Given the description of an element on the screen output the (x, y) to click on. 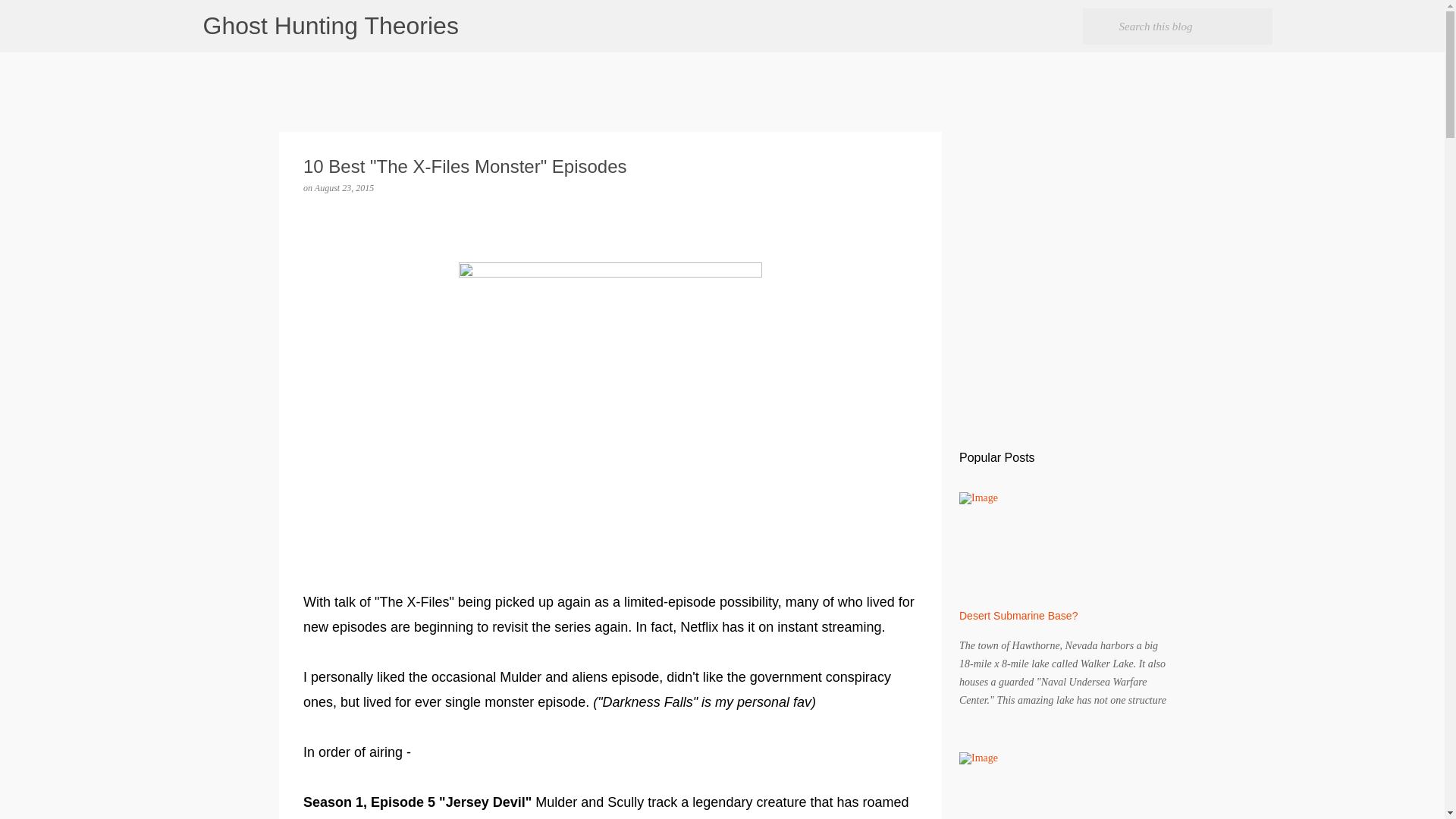
Desert Submarine Base? (1018, 615)
Ghost Hunting Theories (330, 25)
permanent link (344, 187)
August 23, 2015 (344, 187)
